Given the description of an element on the screen output the (x, y) to click on. 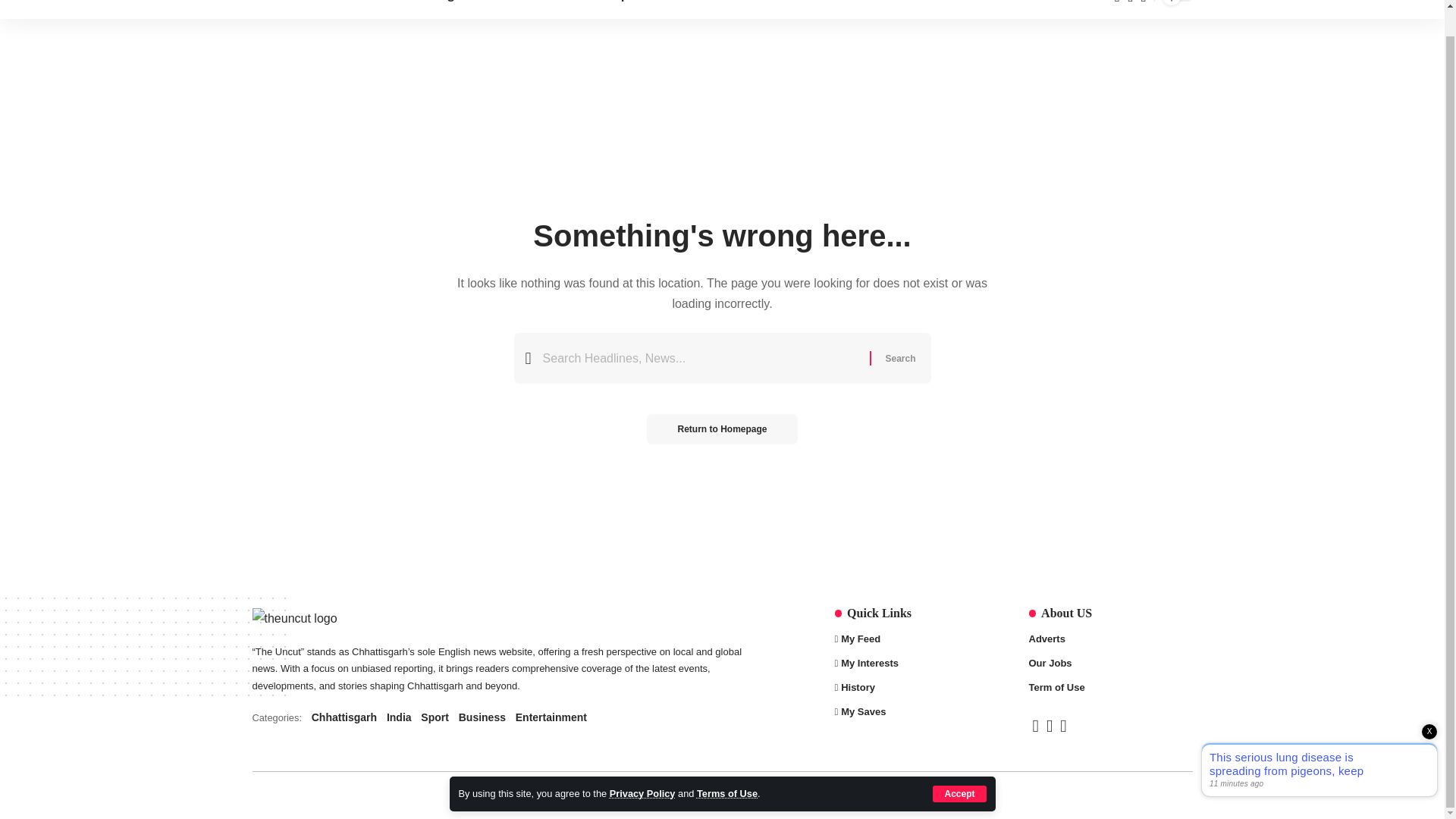
Return to Homepage (721, 429)
Search (899, 358)
Health (498, 717)
The Uncut (689, 9)
India (285, 3)
Search (506, 9)
Privacy Policy (899, 358)
Home (642, 767)
Accept (361, 9)
Sports (959, 767)
Entertainment (632, 9)
Business (767, 9)
Terms of Use (566, 9)
Chhattisgarh (727, 767)
